Given the description of an element on the screen output the (x, y) to click on. 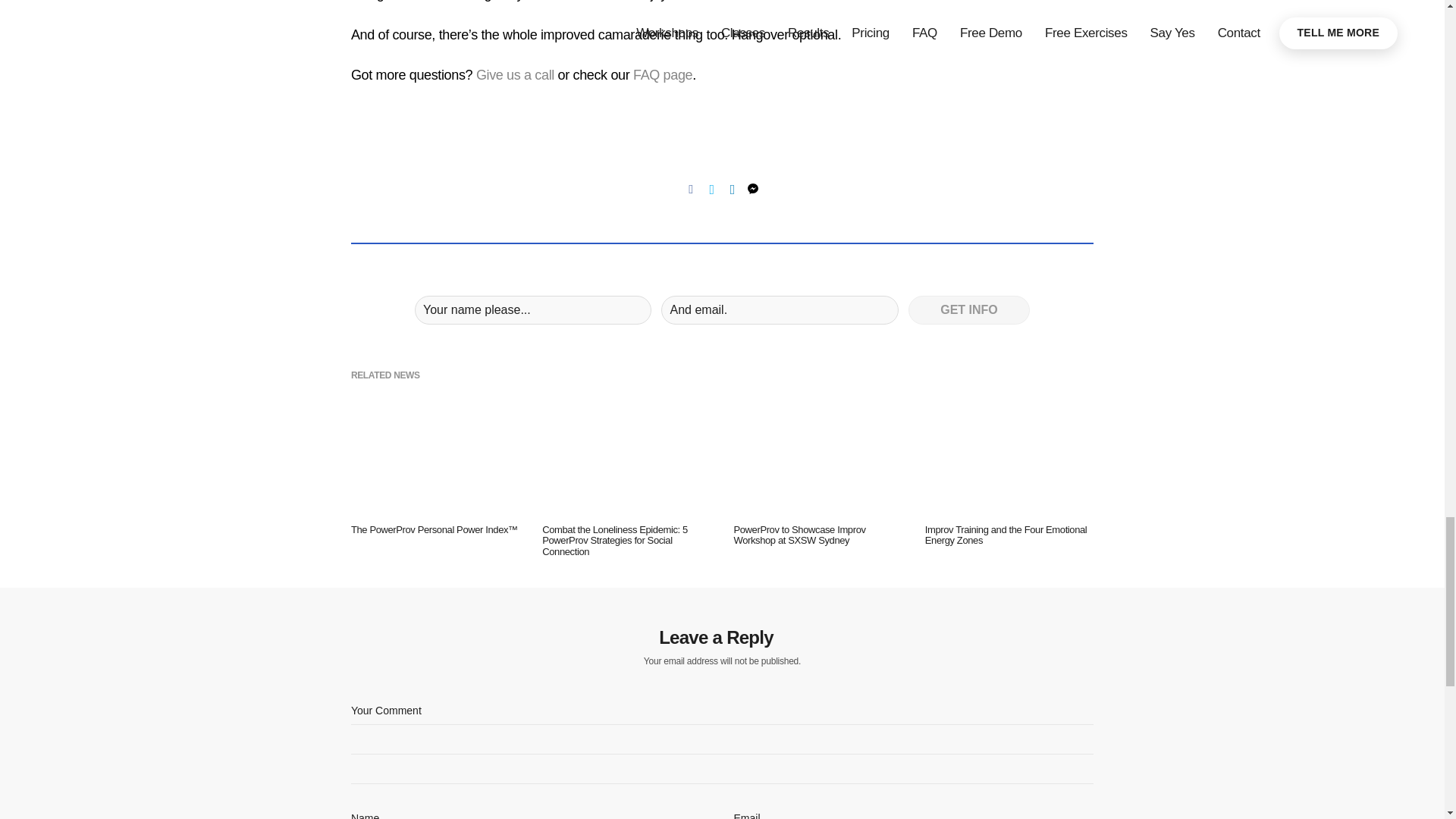
FAQ page (663, 75)
Give us a call (515, 75)
